Given the description of an element on the screen output the (x, y) to click on. 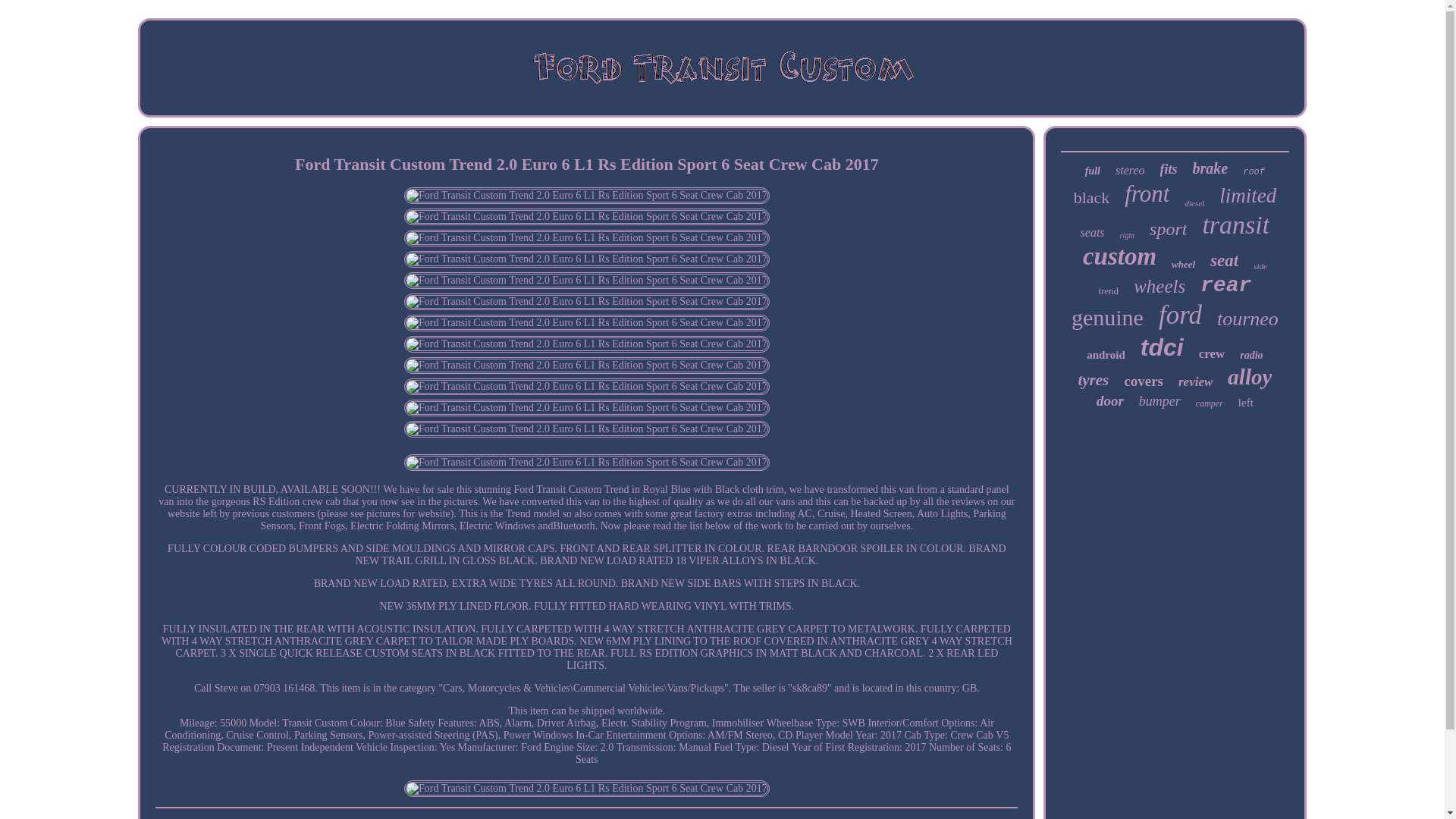
crew (1211, 353)
stereo (1129, 170)
seat (1224, 260)
side (1259, 266)
tyres (1092, 380)
fits (1168, 169)
wheels (1159, 286)
